Given the description of an element on the screen output the (x, y) to click on. 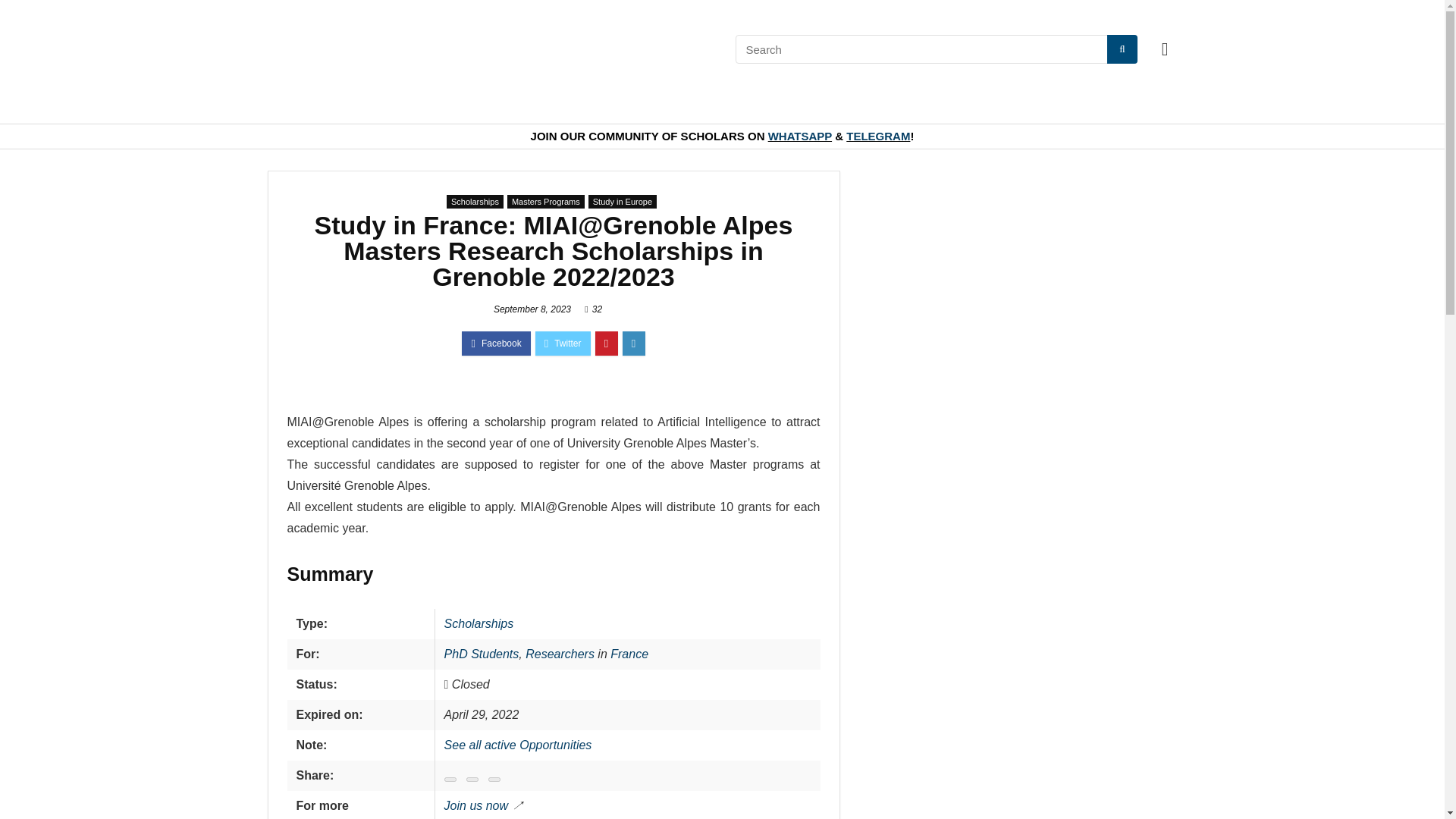
FILTER (466, 49)
Researchers (559, 653)
See all active Opportunities (518, 744)
View all posts in Study in Europe (622, 201)
Scholarships (478, 623)
Study in Europe (622, 201)
Scholarships (474, 201)
France (628, 653)
Join us now (476, 805)
Masters Programs (545, 201)
